Given the description of an element on the screen output the (x, y) to click on. 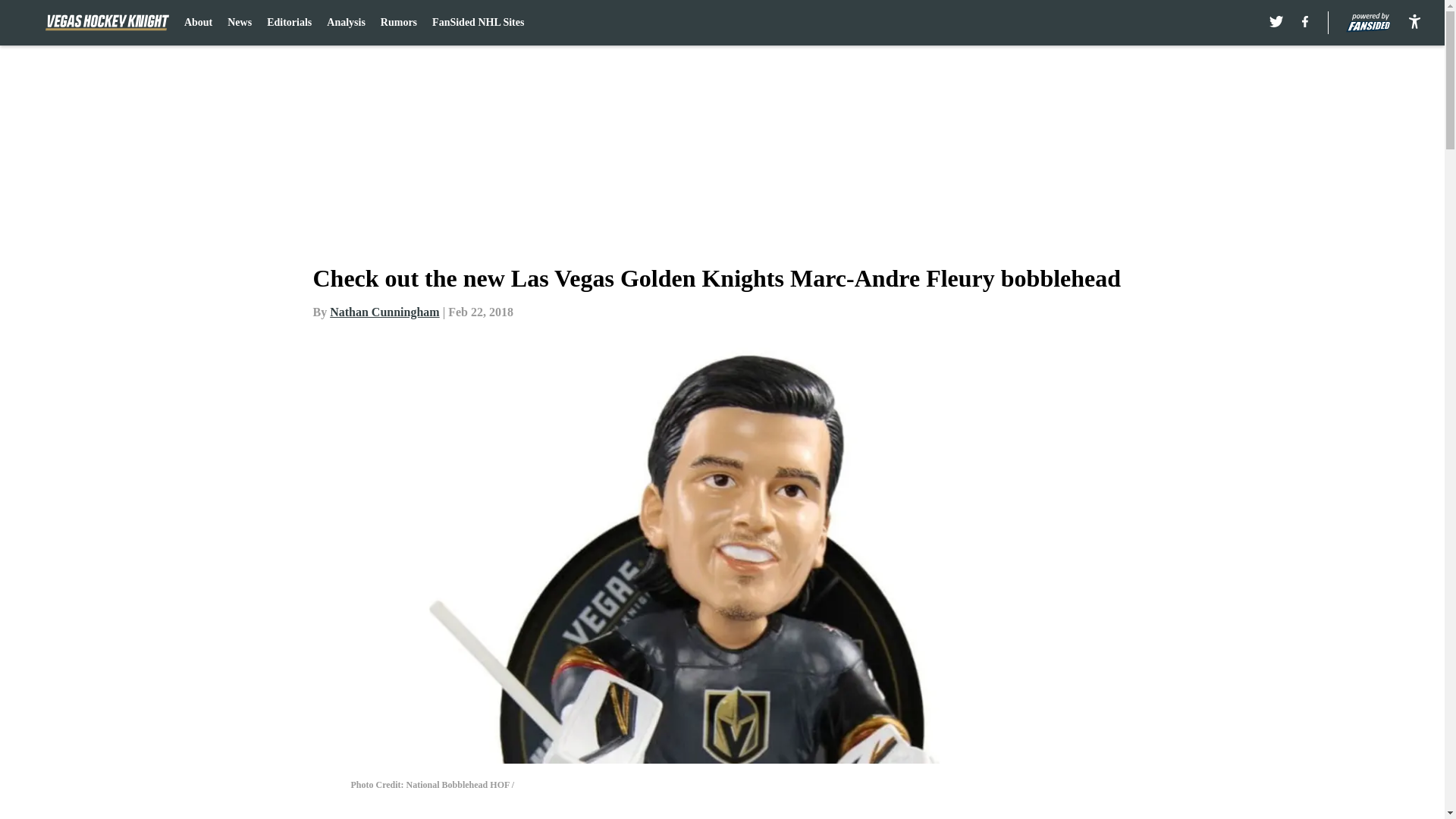
About (198, 22)
Rumors (398, 22)
FanSided NHL Sites (478, 22)
Analysis (345, 22)
Editorials (288, 22)
Nathan Cunningham (384, 311)
News (239, 22)
